Given the description of an element on the screen output the (x, y) to click on. 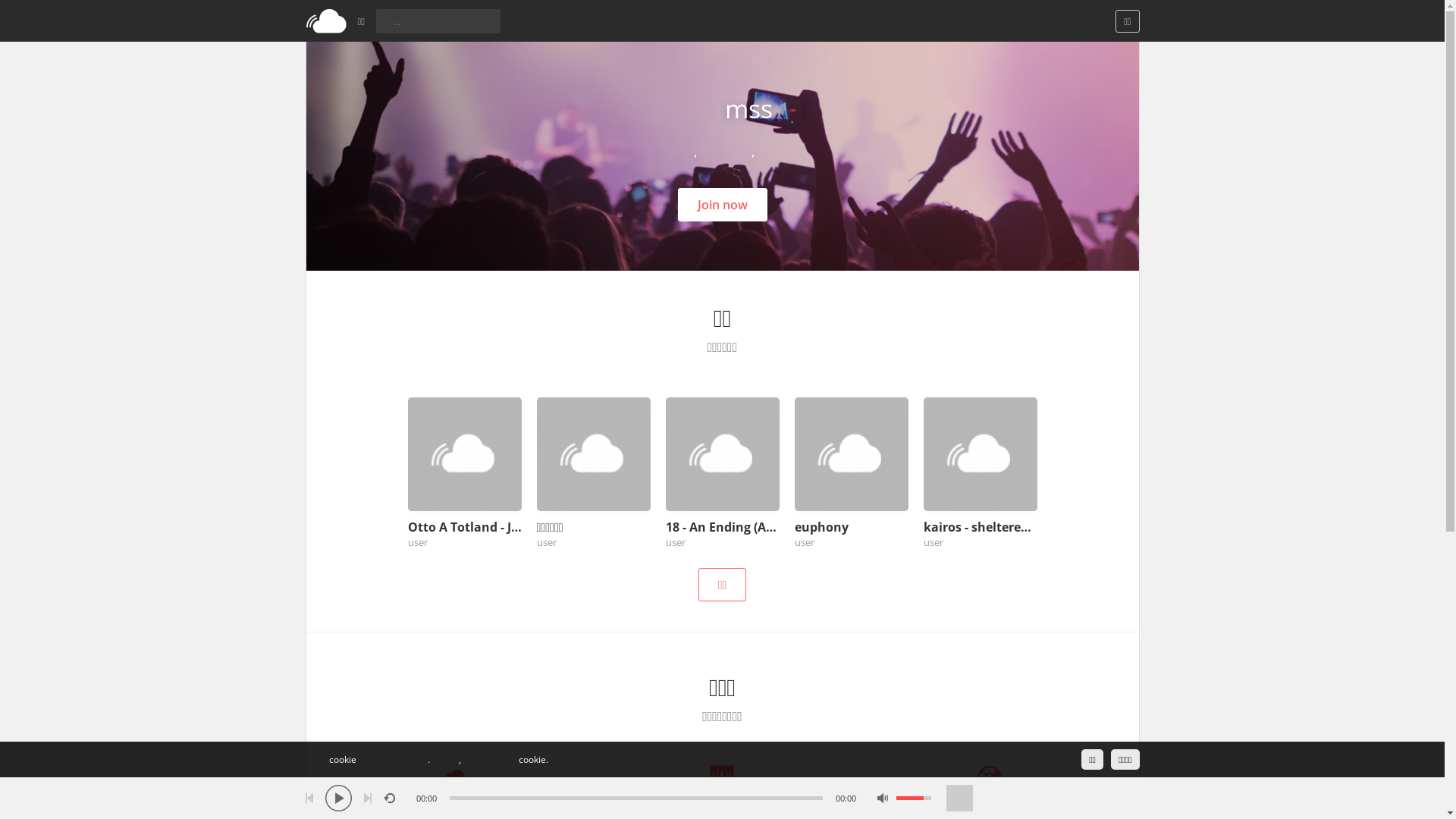
user Element type: text (417, 542)
Join now Element type: text (722, 204)
user Element type: text (675, 542)
18 - An Ending (Ascent) Element type: text (722, 526)
Otto A Totland - Jonas Element type: text (464, 526)
user Element type: text (546, 542)
euphony Element type: text (851, 526)
user Element type: text (933, 542)
user Element type: text (804, 542)
kairos - sheltered love Element type: text (980, 526)
